Given the description of an element on the screen output the (x, y) to click on. 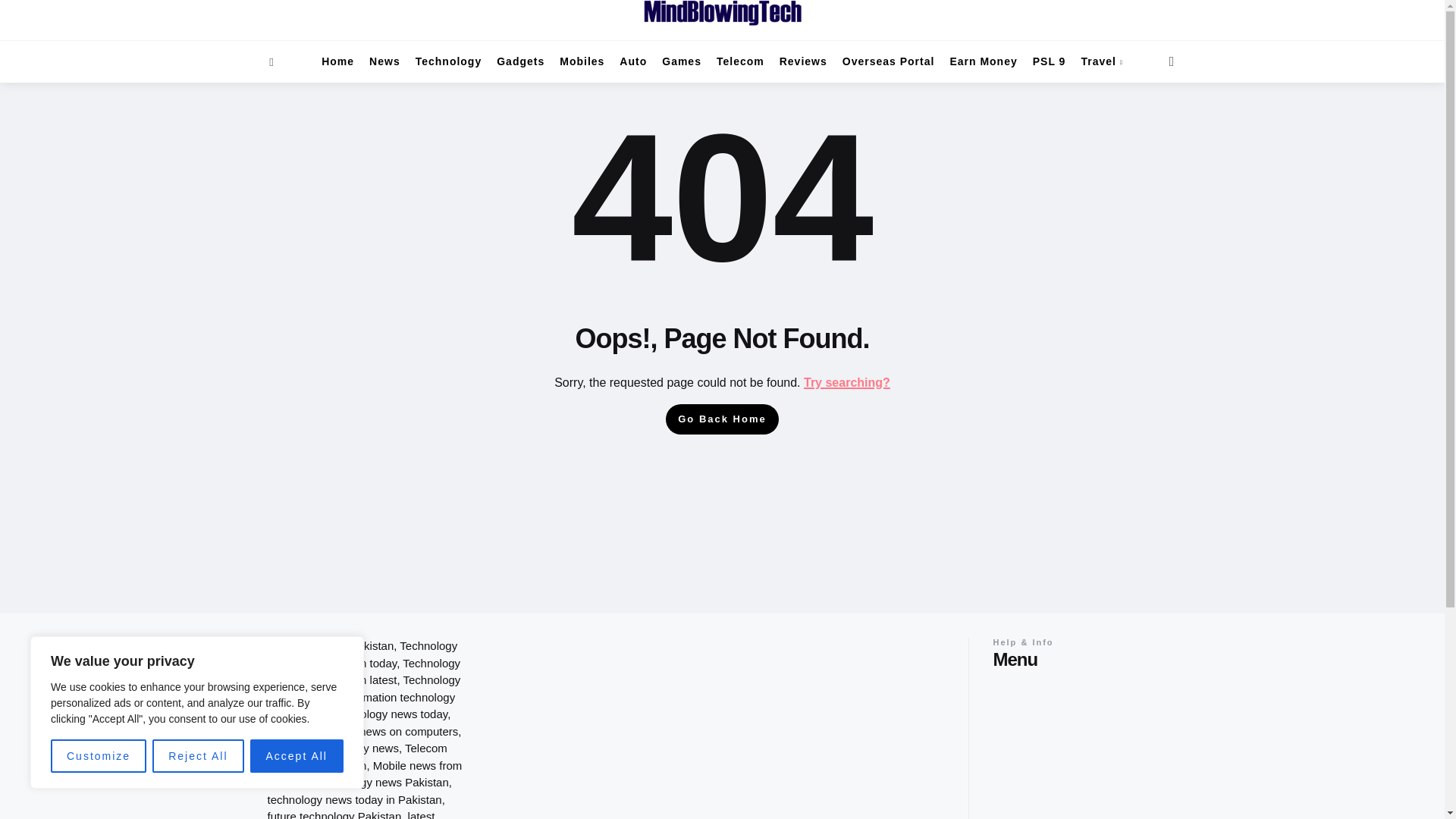
Customize (98, 756)
Home (337, 61)
Earn Money (982, 61)
Travel (1101, 61)
Reject All (197, 756)
Accept All (296, 756)
Technology (447, 61)
PSL 9 (1048, 61)
Games (681, 61)
Gadgets (520, 61)
